Given the description of an element on the screen output the (x, y) to click on. 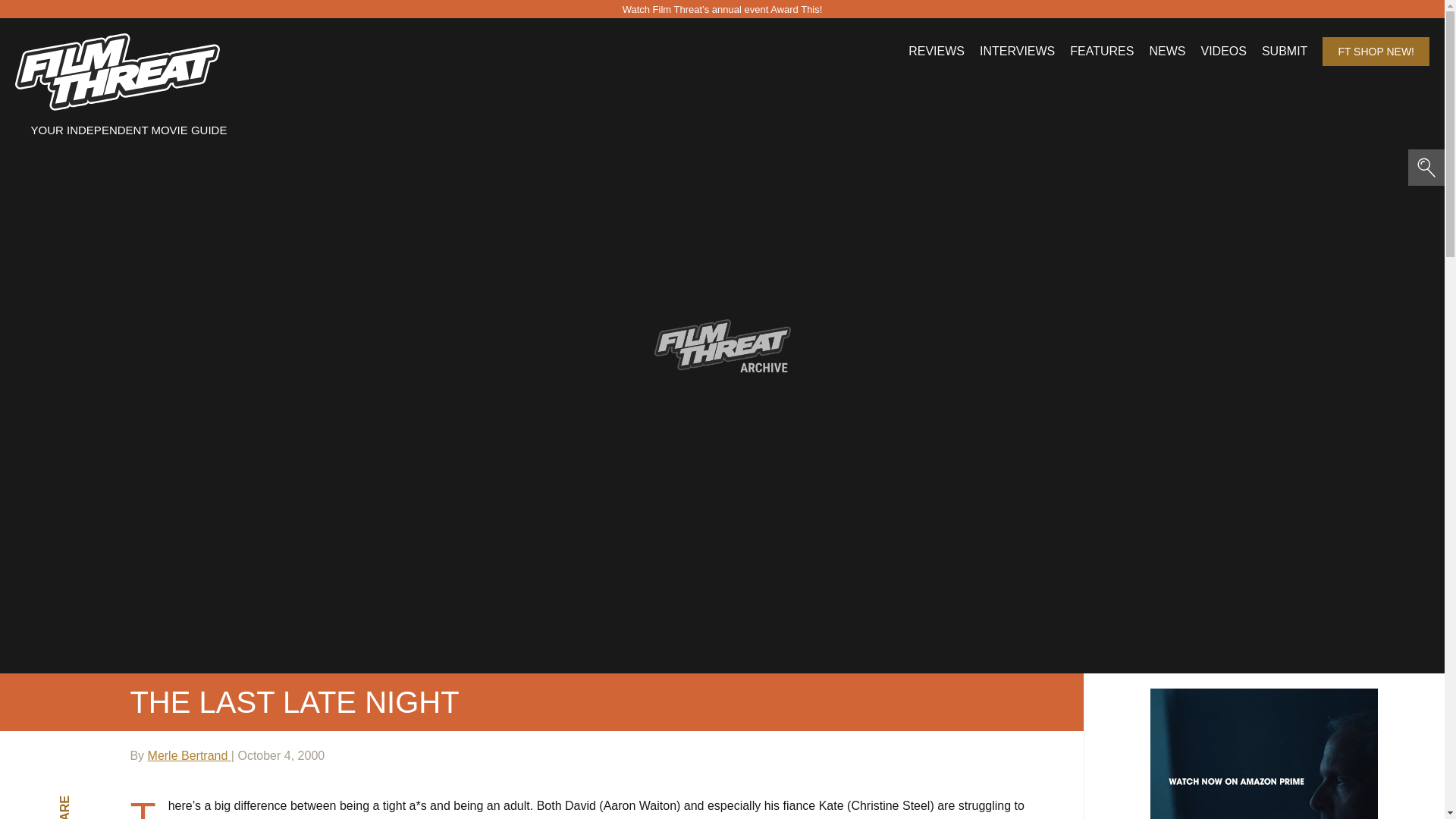
INTERVIEWS (1016, 51)
FT SHOP NEW! (1375, 51)
VIDEOS (1222, 51)
FEATURES (1102, 51)
NEWS (1166, 51)
SUBMIT (1284, 51)
Merle Bertrand (189, 755)
REVIEWS (935, 51)
Search (152, 24)
